Given the description of an element on the screen output the (x, y) to click on. 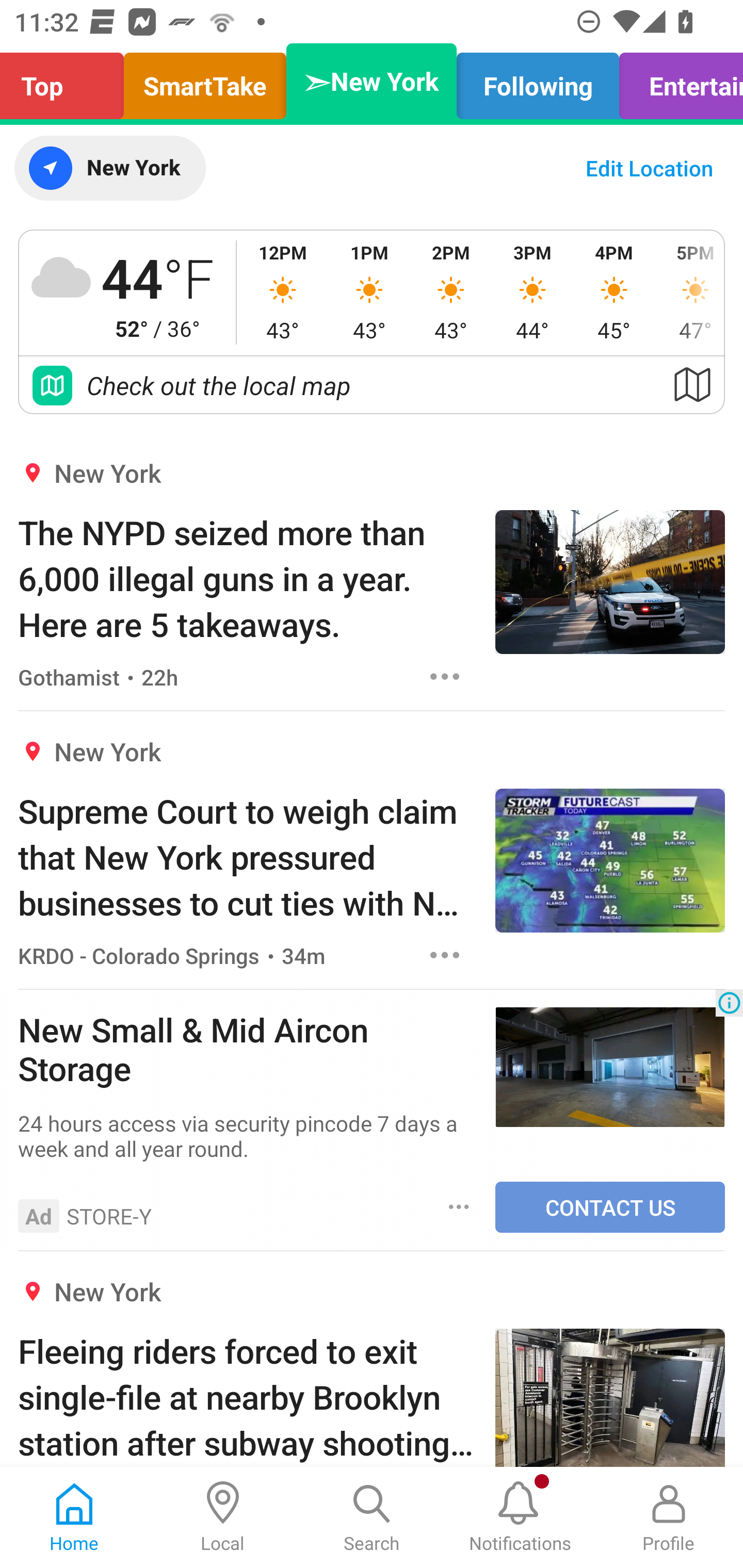
Top (67, 81)
SmartTake (204, 81)
➣New York (371, 81)
Following (537, 81)
New York (109, 168)
Edit Location (648, 168)
12PM 43° (282, 291)
1PM 43° (369, 291)
2PM 43° (450, 291)
3PM 44° (532, 291)
4PM 45° (613, 291)
5PM 47° (689, 291)
Check out the local map (371, 384)
Options (444, 676)
Options (444, 954)
Ad Choices Icon (729, 1002)
New Small & Mid Aircon Storage (247, 1047)
CONTACT US (610, 1207)
Options (459, 1206)
STORE-Y (109, 1215)
Local (222, 1517)
Search (371, 1517)
Notifications, New notification Notifications (519, 1517)
Profile (668, 1517)
